Given the description of an element on the screen output the (x, y) to click on. 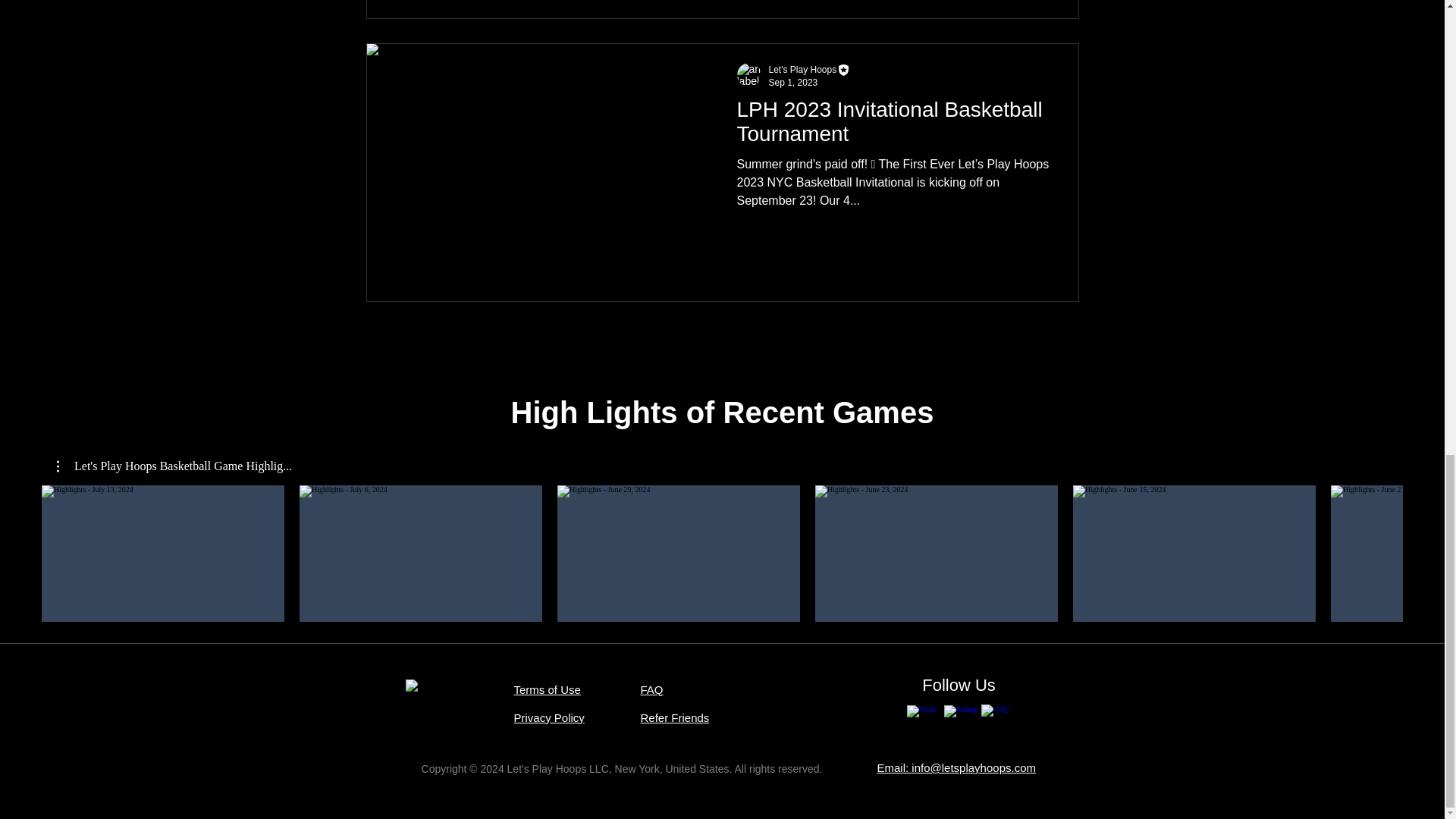
Sep 1, 2023 (793, 81)
LPH 2023 Invitational Basketball Tournament (893, 126)
Let's Play Hoops (802, 69)
FAQ (651, 689)
Let's Play Hoops (809, 69)
Privacy Policy (549, 717)
Refer Friends (674, 717)
Terms of Use (546, 689)
